Given the description of an element on the screen output the (x, y) to click on. 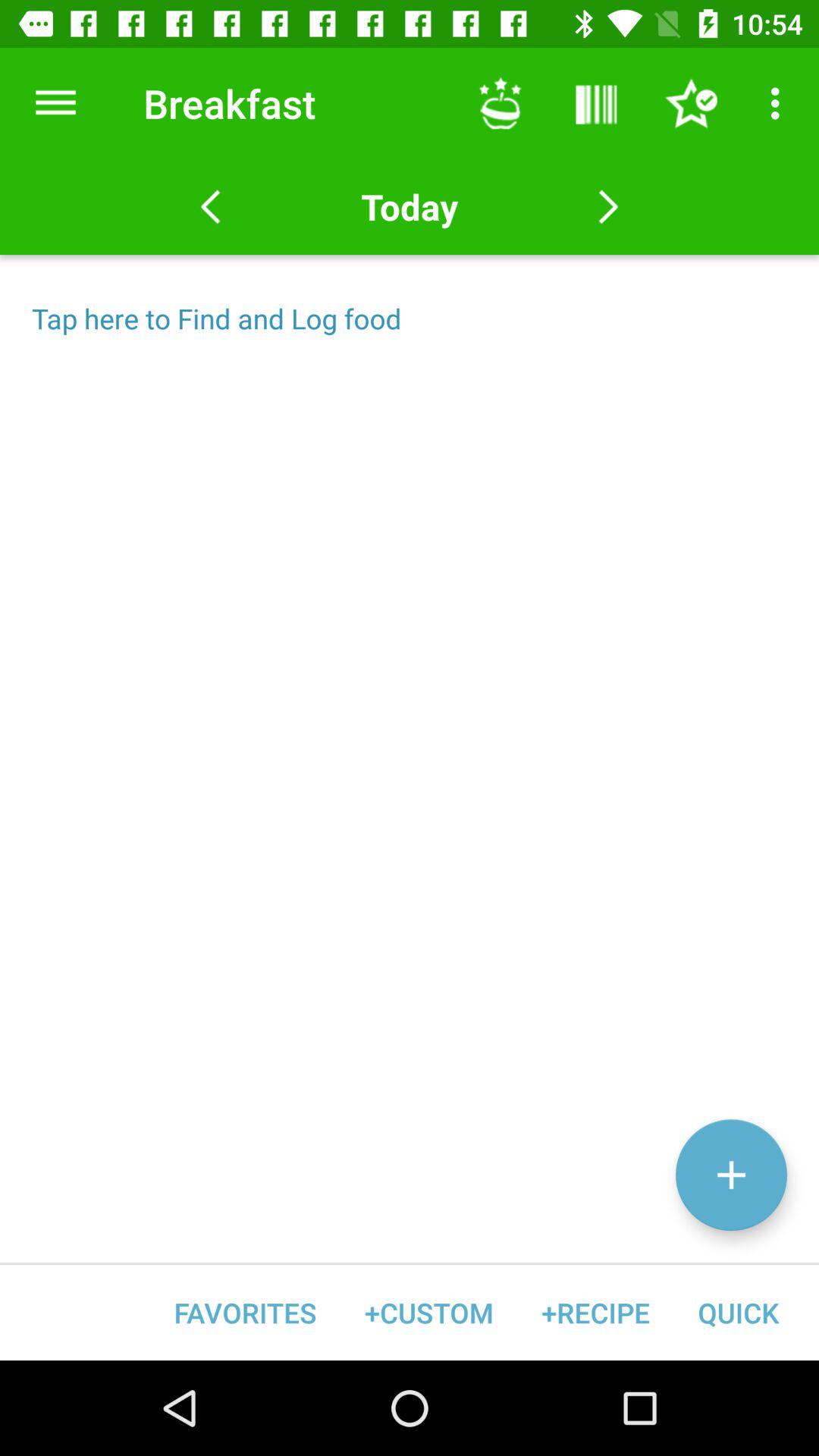
turn off icon above the today item (500, 103)
